Given the description of an element on the screen output the (x, y) to click on. 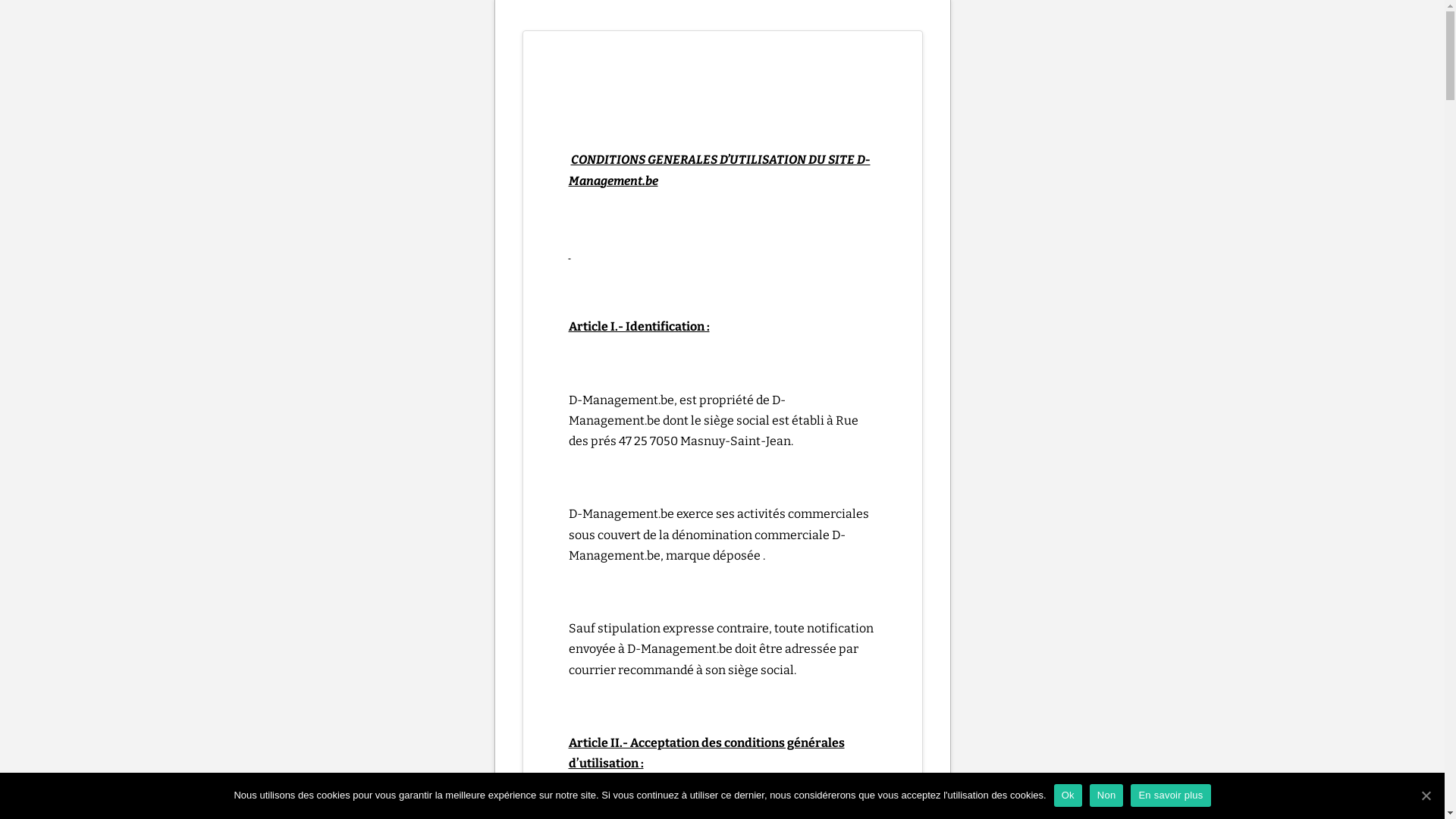
Non Element type: text (1106, 795)
En savoir plus Element type: text (1170, 795)
Ok Element type: text (1068, 795)
